Given the description of an element on the screen output the (x, y) to click on. 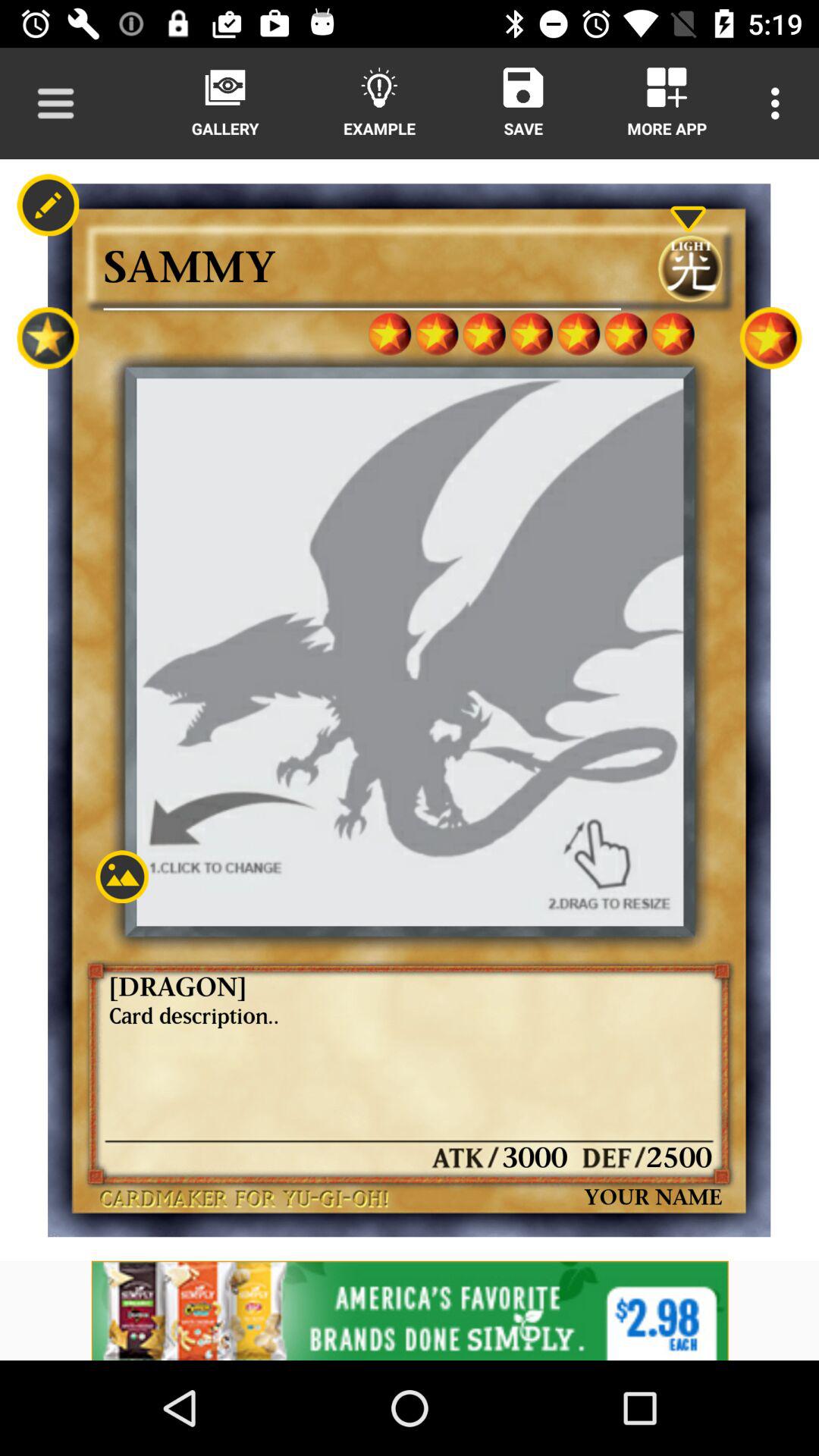
navigation menu (55, 103)
